Given the description of an element on the screen output the (x, y) to click on. 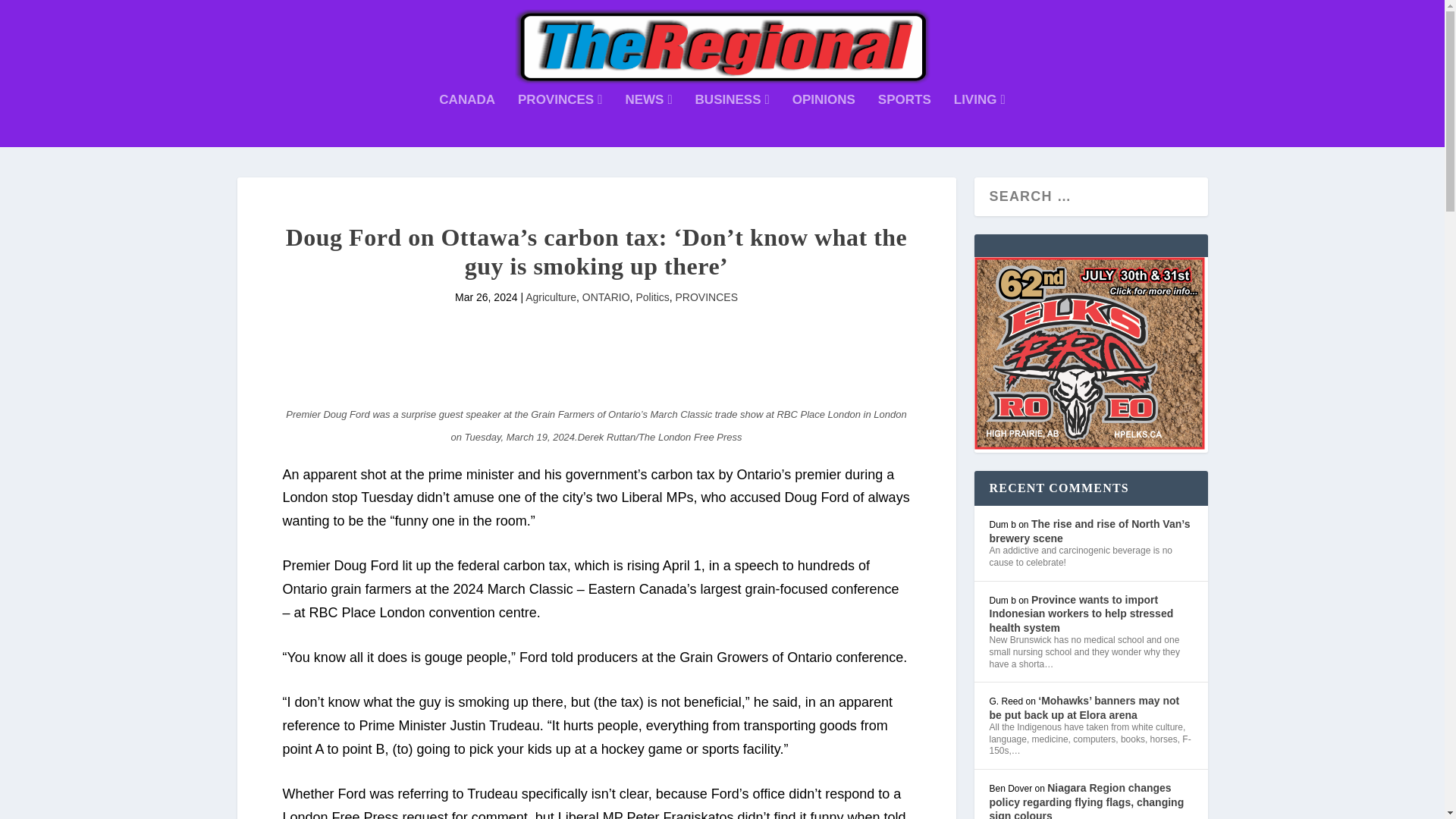
SPORTS (904, 120)
BUSINESS (732, 120)
CANADA (467, 120)
Politics (651, 297)
PROVINCES (706, 297)
OPINIONS (824, 120)
LIVING (979, 120)
PROVINCES (560, 120)
ONTARIO (606, 297)
Agriculture (550, 297)
